Given the description of an element on the screen output the (x, y) to click on. 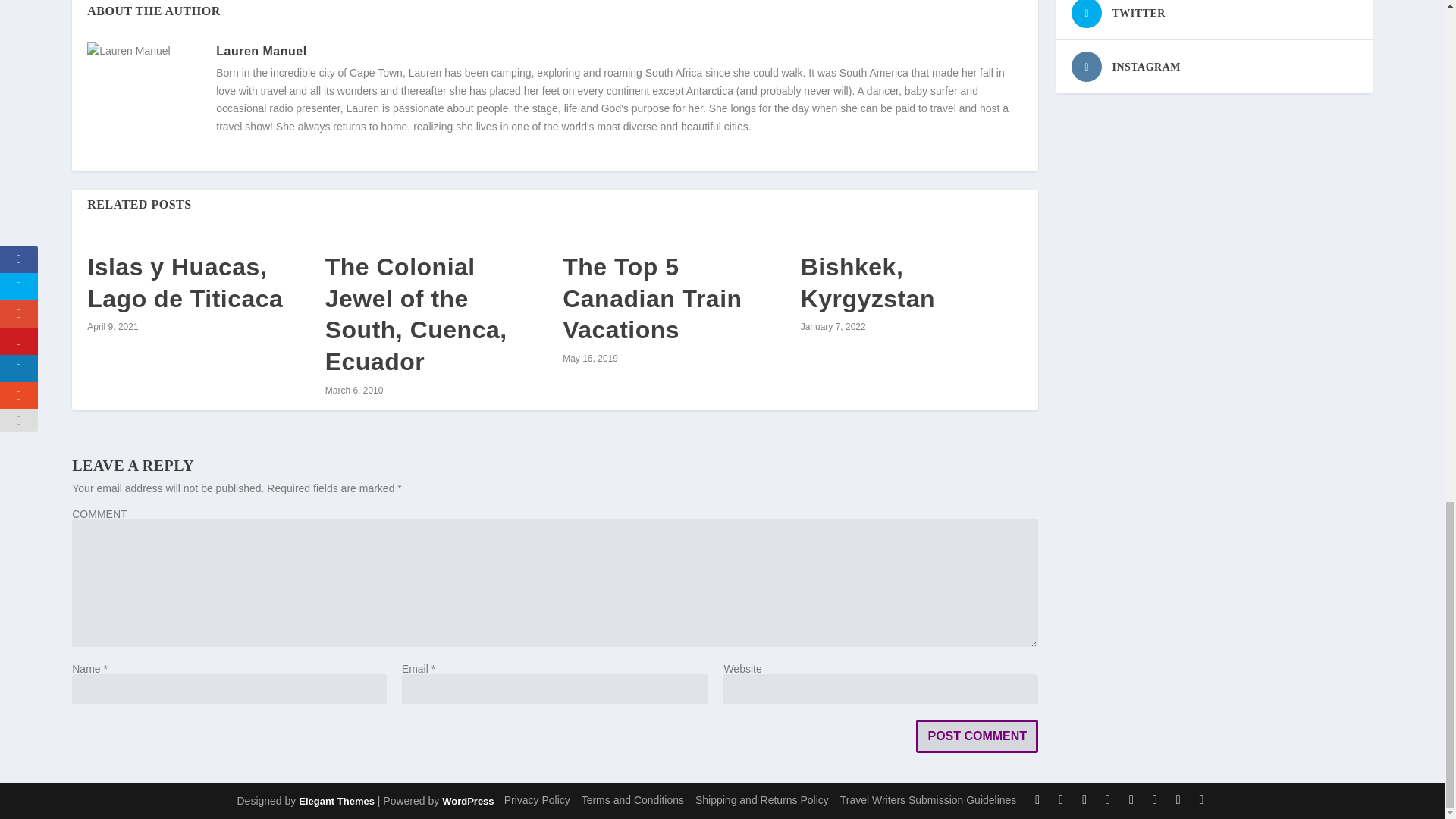
Post Comment (976, 735)
